Given the description of an element on the screen output the (x, y) to click on. 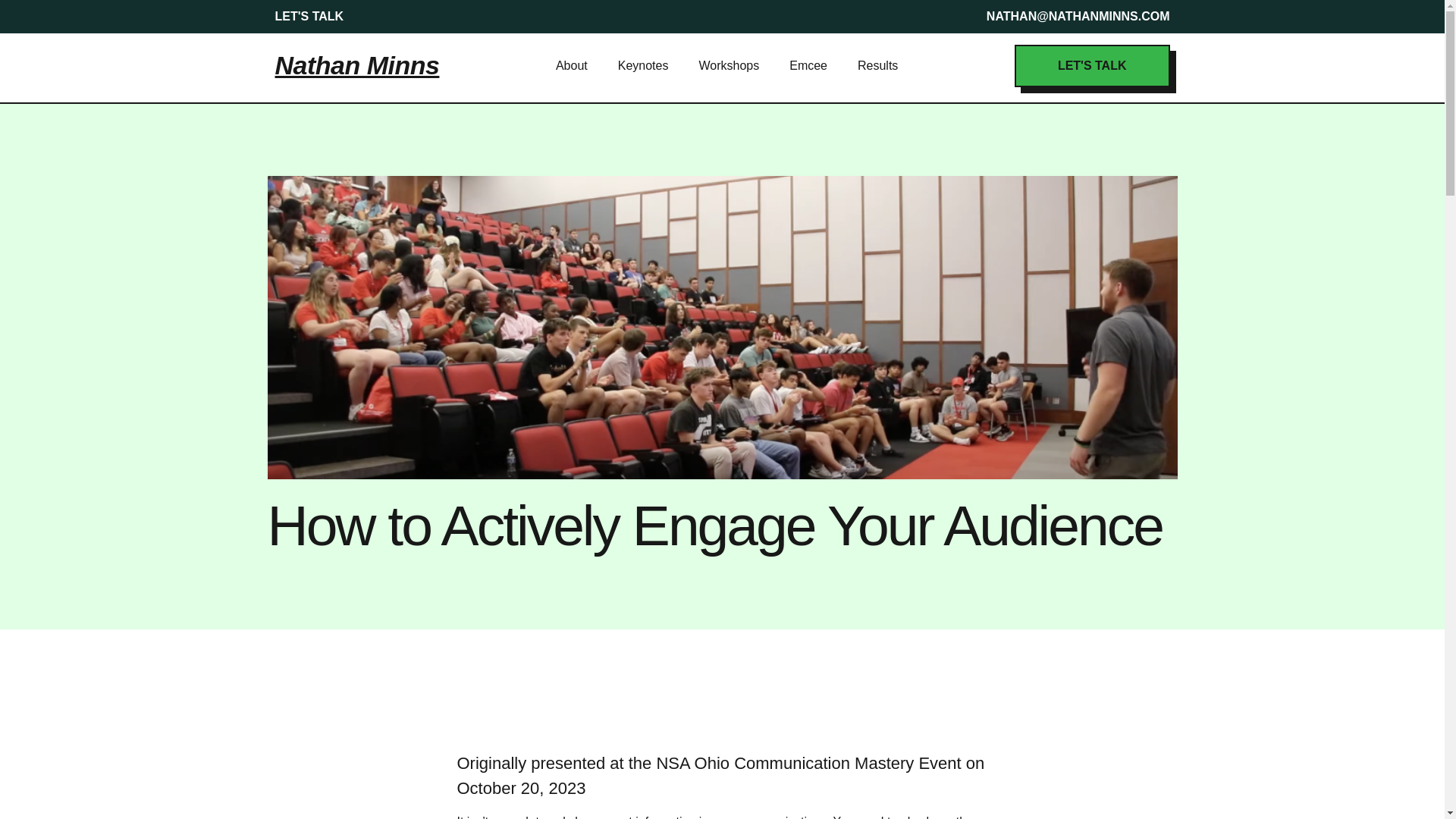
LET'S TALK (1092, 65)
Nathan Minns (357, 64)
About (571, 65)
Workshops (728, 65)
Emcee (807, 65)
LET'S TALK (309, 16)
Keynotes (643, 65)
Results (876, 65)
